Given the description of an element on the screen output the (x, y) to click on. 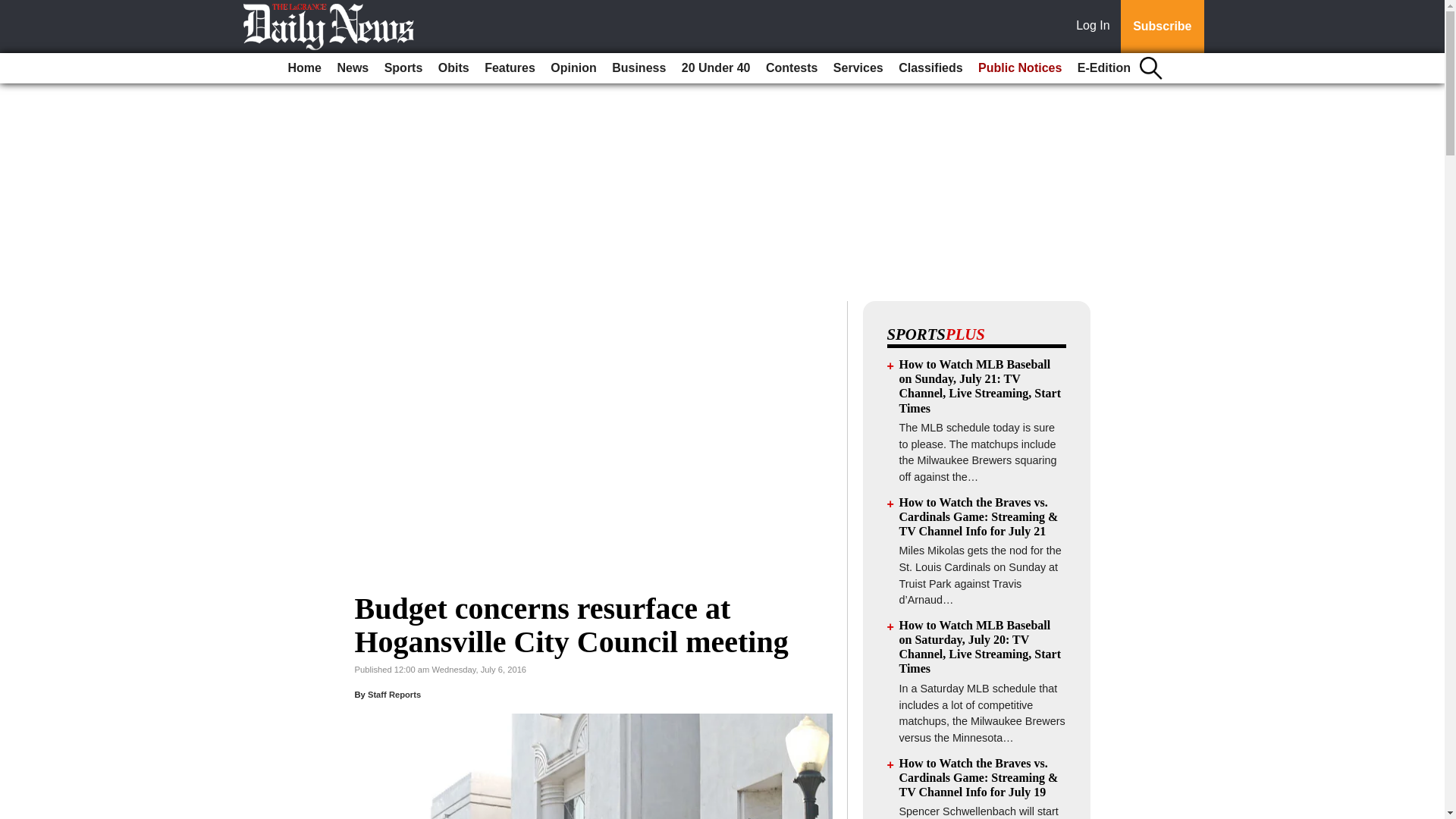
Features (510, 68)
Home (304, 68)
Classifieds (930, 68)
Subscribe (1162, 26)
Business (638, 68)
Sports (403, 68)
Public Notices (1019, 68)
Contests (792, 68)
Opinion (573, 68)
20 Under 40 (716, 68)
News (352, 68)
Go (13, 9)
Obits (454, 68)
Staff Reports (394, 694)
